Given the description of an element on the screen output the (x, y) to click on. 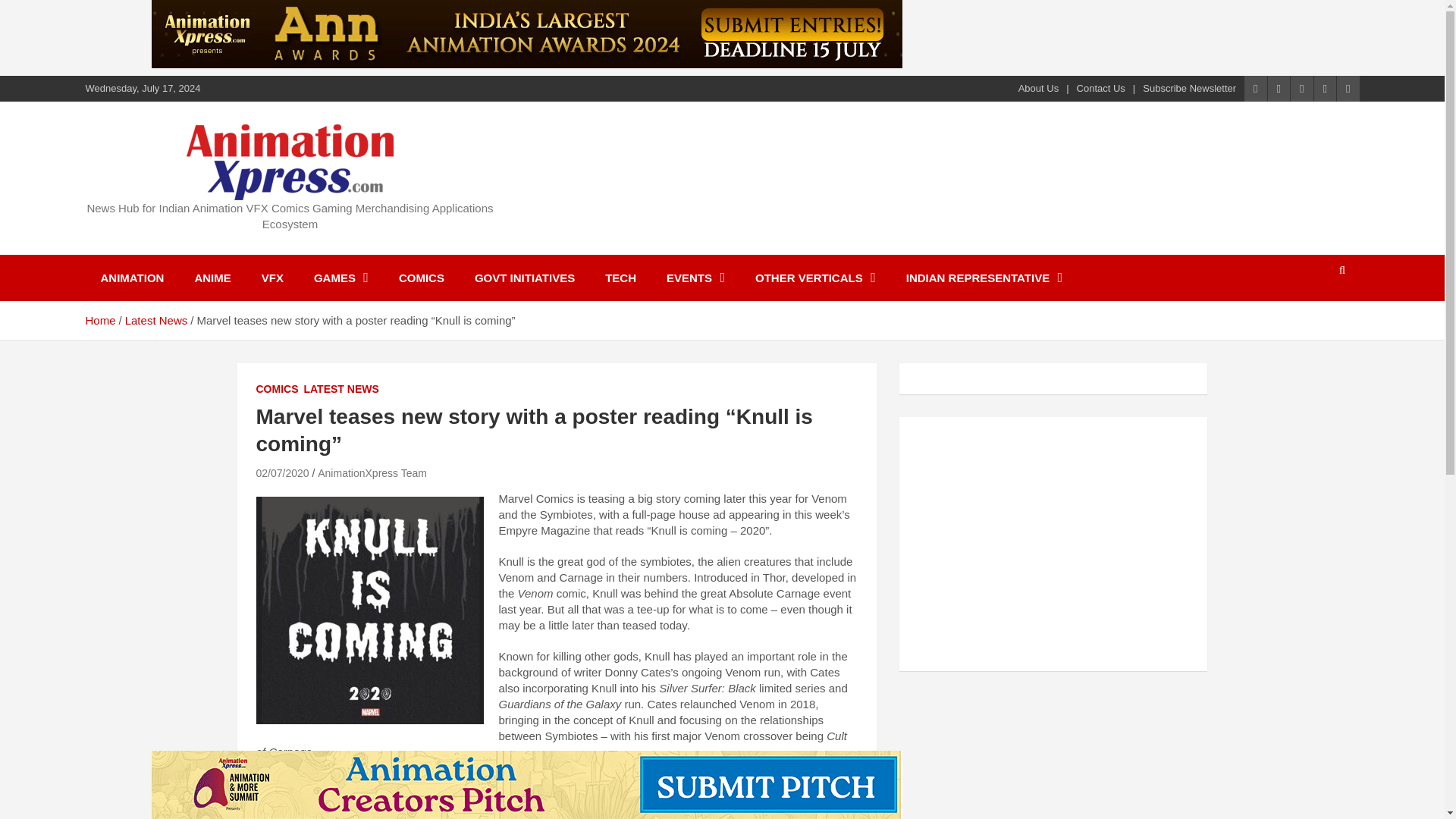
Subscribe Newsletter (1189, 88)
ANIME (212, 277)
ANIMATION (131, 277)
YouTube video player (1024, 542)
GAMES (341, 277)
TECH (619, 277)
GOVT INITIATIVES (524, 277)
EVENTS (694, 277)
VFX (272, 277)
COMICS (422, 277)
About Us (1037, 88)
Contact Us (1101, 88)
